Given the description of an element on the screen output the (x, y) to click on. 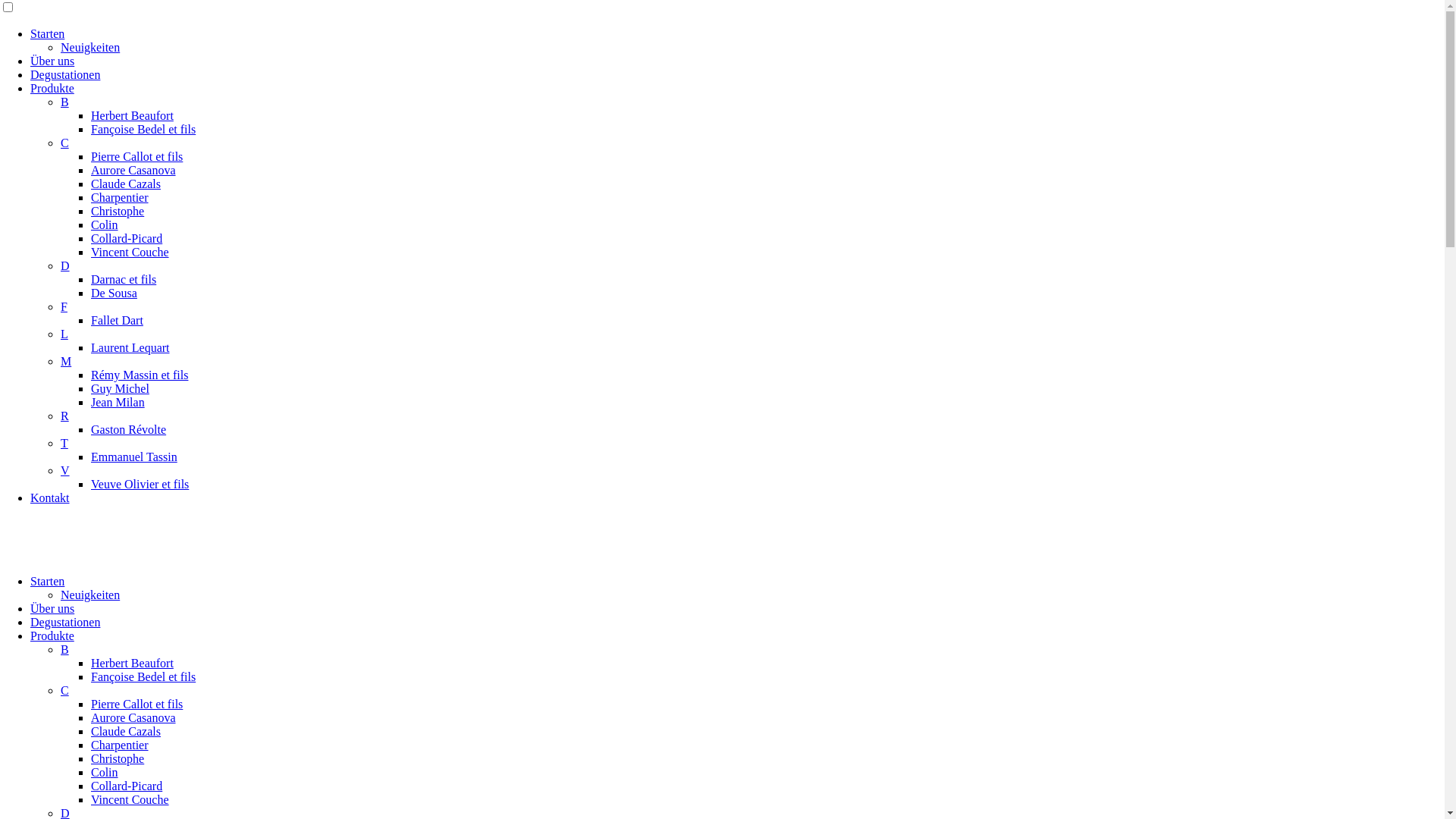
Produkte Element type: text (52, 635)
Colin Element type: text (104, 771)
Christophe Element type: text (117, 210)
Laurent Lequart Element type: text (130, 347)
Christophe Element type: text (117, 758)
Neuigkeiten Element type: text (89, 594)
Vincent Couche Element type: text (130, 799)
Vincent Couche Element type: text (130, 251)
Charpentier Element type: text (119, 744)
Fallet Dart Element type: text (117, 319)
Pierre Callot et fils Element type: text (136, 703)
C Element type: text (64, 690)
Starten Element type: text (47, 580)
L Element type: text (64, 333)
Claude Cazals Element type: text (125, 183)
V Element type: text (64, 470)
Starten Element type: text (47, 33)
R Element type: text (64, 415)
Degustationen Element type: text (65, 74)
Pierre Callot et fils Element type: text (136, 156)
Collard-Picard Element type: text (126, 785)
Colin Element type: text (104, 224)
Degustationen Element type: text (65, 621)
T Element type: text (64, 442)
Veuve Olivier et fils Element type: text (139, 483)
Emmanuel Tassin Element type: text (134, 456)
Collard-Picard Element type: text (126, 238)
Herbert Beaufort Element type: text (132, 662)
B Element type: text (64, 649)
Aurore Casanova Element type: text (133, 717)
F Element type: text (63, 306)
Darnac et fils Element type: text (123, 279)
M Element type: text (65, 360)
D Element type: text (64, 265)
B Element type: text (64, 101)
Charpentier Element type: text (119, 197)
De Sousa Element type: text (114, 292)
Claude Cazals Element type: text (125, 730)
C Element type: text (64, 142)
Kontakt Element type: text (49, 497)
Produkte Element type: text (52, 87)
Neuigkeiten Element type: text (89, 46)
Jean Milan Element type: text (117, 401)
Herbert Beaufort Element type: text (132, 115)
Guy Michel Element type: text (120, 388)
Aurore Casanova Element type: text (133, 169)
